Given the description of an element on the screen output the (x, y) to click on. 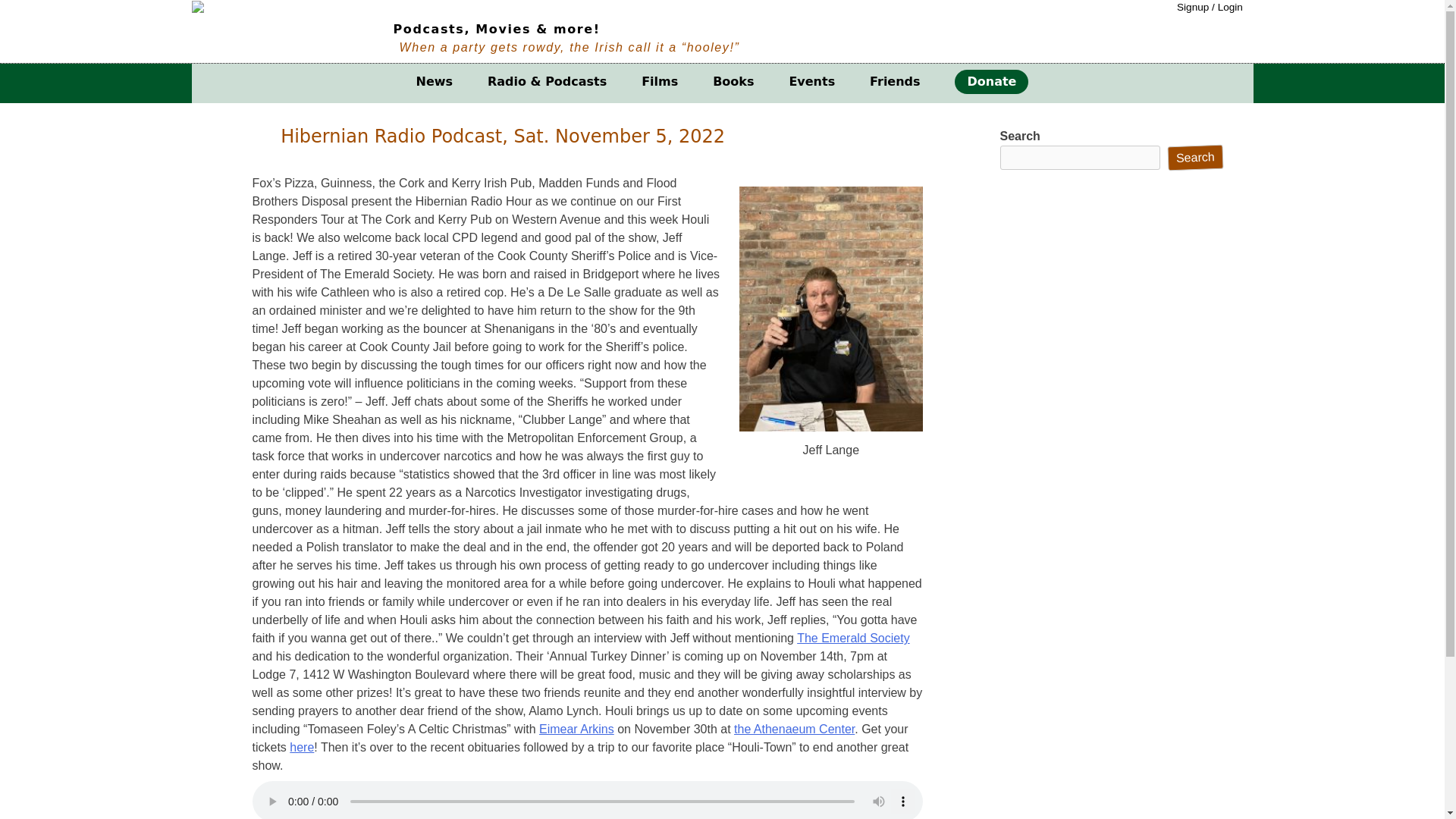
Eimear Arkins (576, 728)
Search (1195, 156)
The Emerald Society (853, 637)
Books (733, 81)
Events (811, 81)
Donate (991, 81)
Friends (894, 81)
Films (660, 81)
News (434, 81)
the Athenaeum Center (793, 728)
here (301, 747)
